Given the description of an element on the screen output the (x, y) to click on. 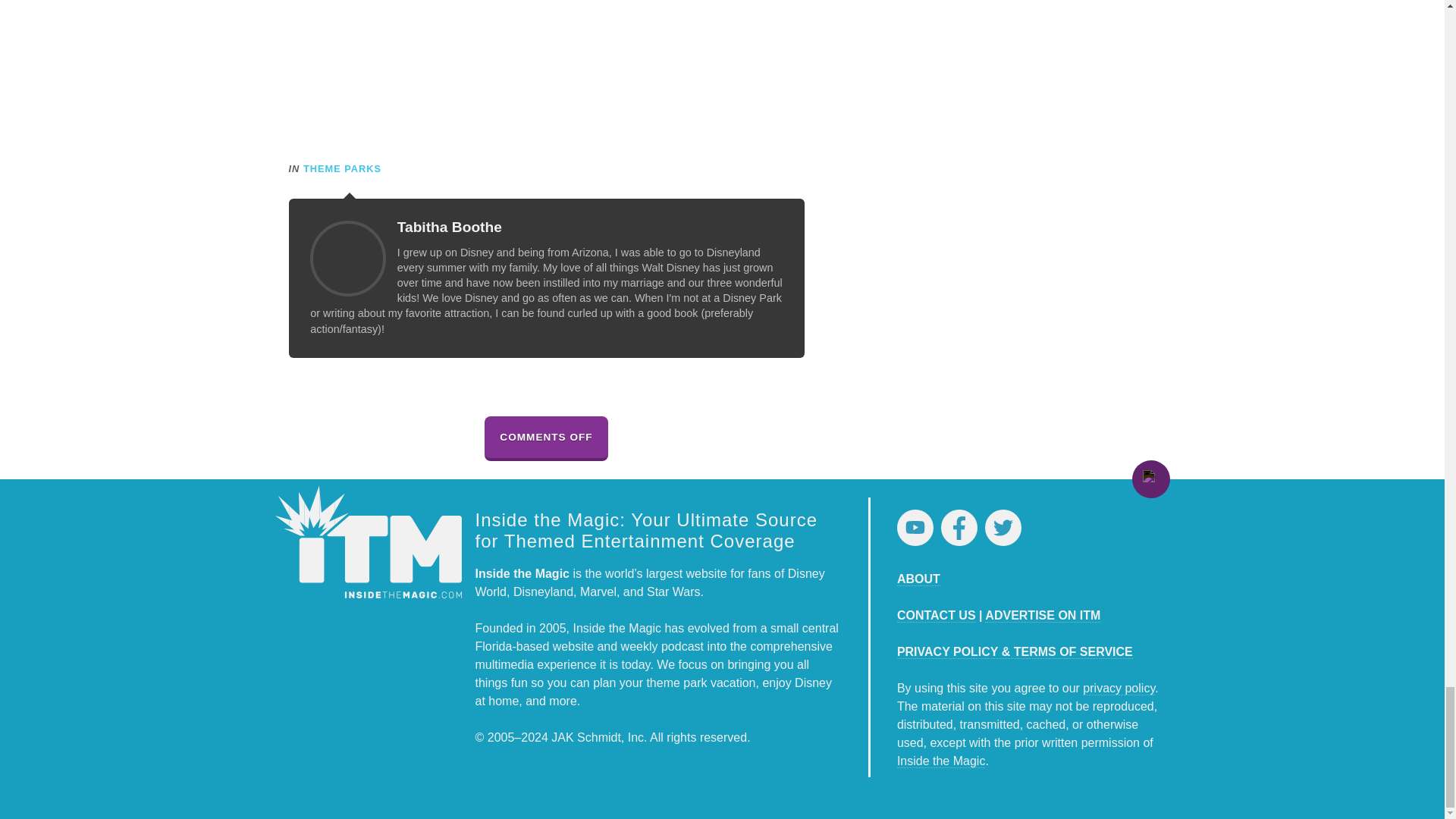
Return to Top (1150, 478)
